Given the description of an element on the screen output the (x, y) to click on. 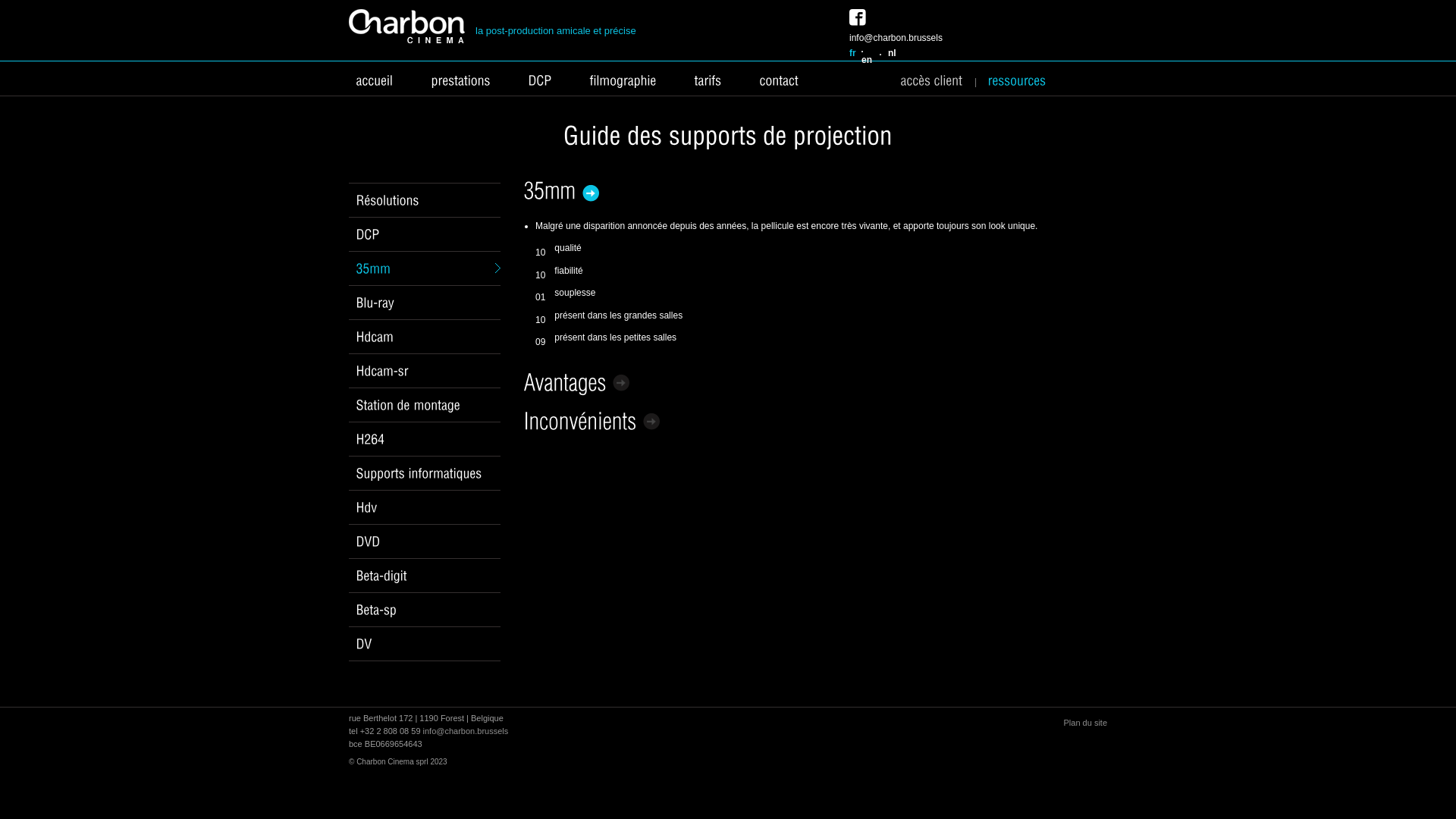
Charbon Studio Element type: hover (406, 26)
fr Element type: text (852, 52)
en Element type: text (866, 59)
nl Element type: text (892, 52)
info@charbon.brussels Element type: text (465, 730)
info@charbon.brussels Element type: text (895, 37)
Plan du site Element type: text (1085, 722)
